Given the description of an element on the screen output the (x, y) to click on. 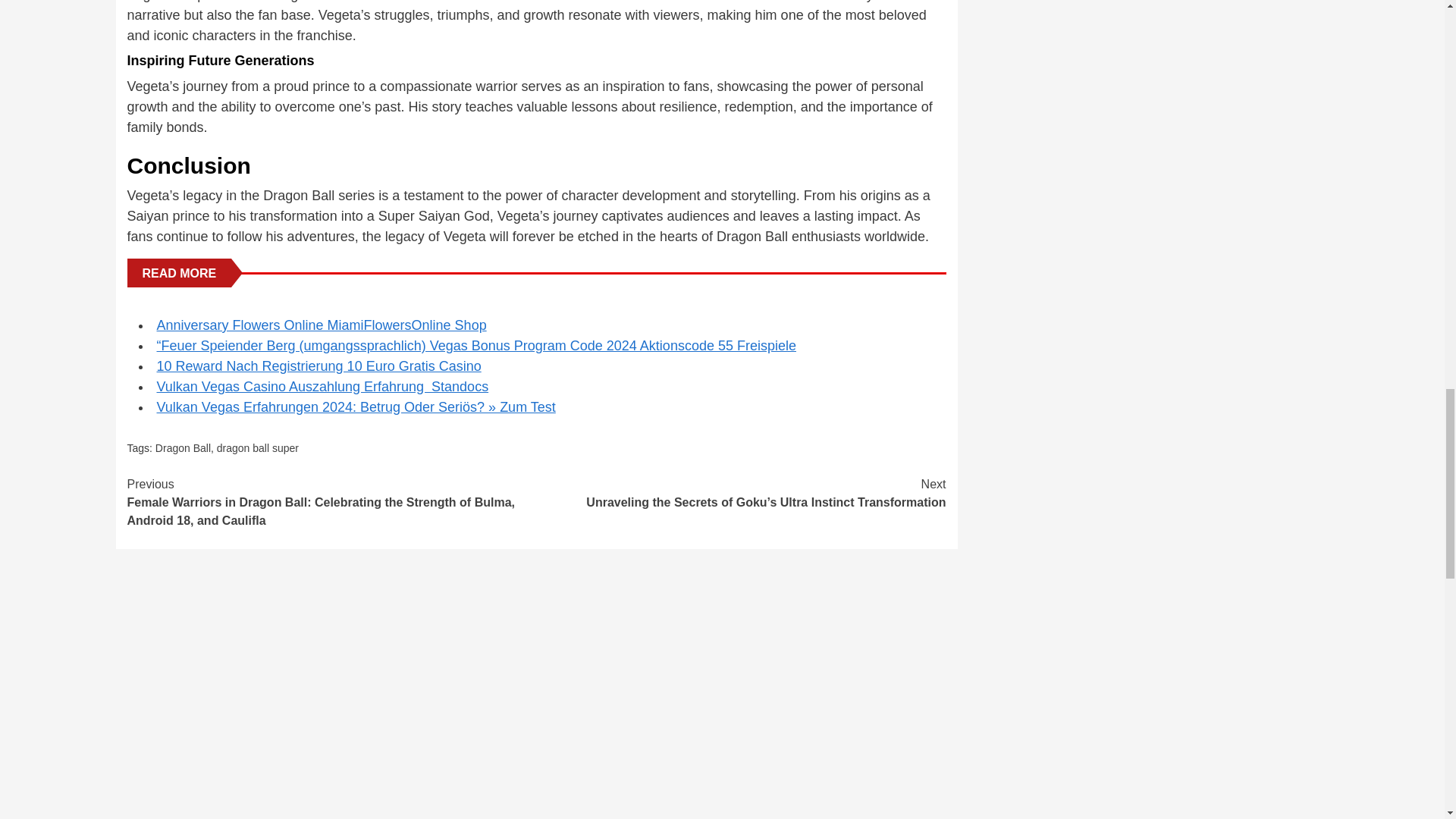
dragon ball super (257, 448)
10 Reward Nach Registrierung 10 Euro Gratis Casino (317, 365)
Dragon Ball (183, 448)
Anniversary Flowers Online MiamiFlowersOnline Shop (320, 324)
